Given the description of an element on the screen output the (x, y) to click on. 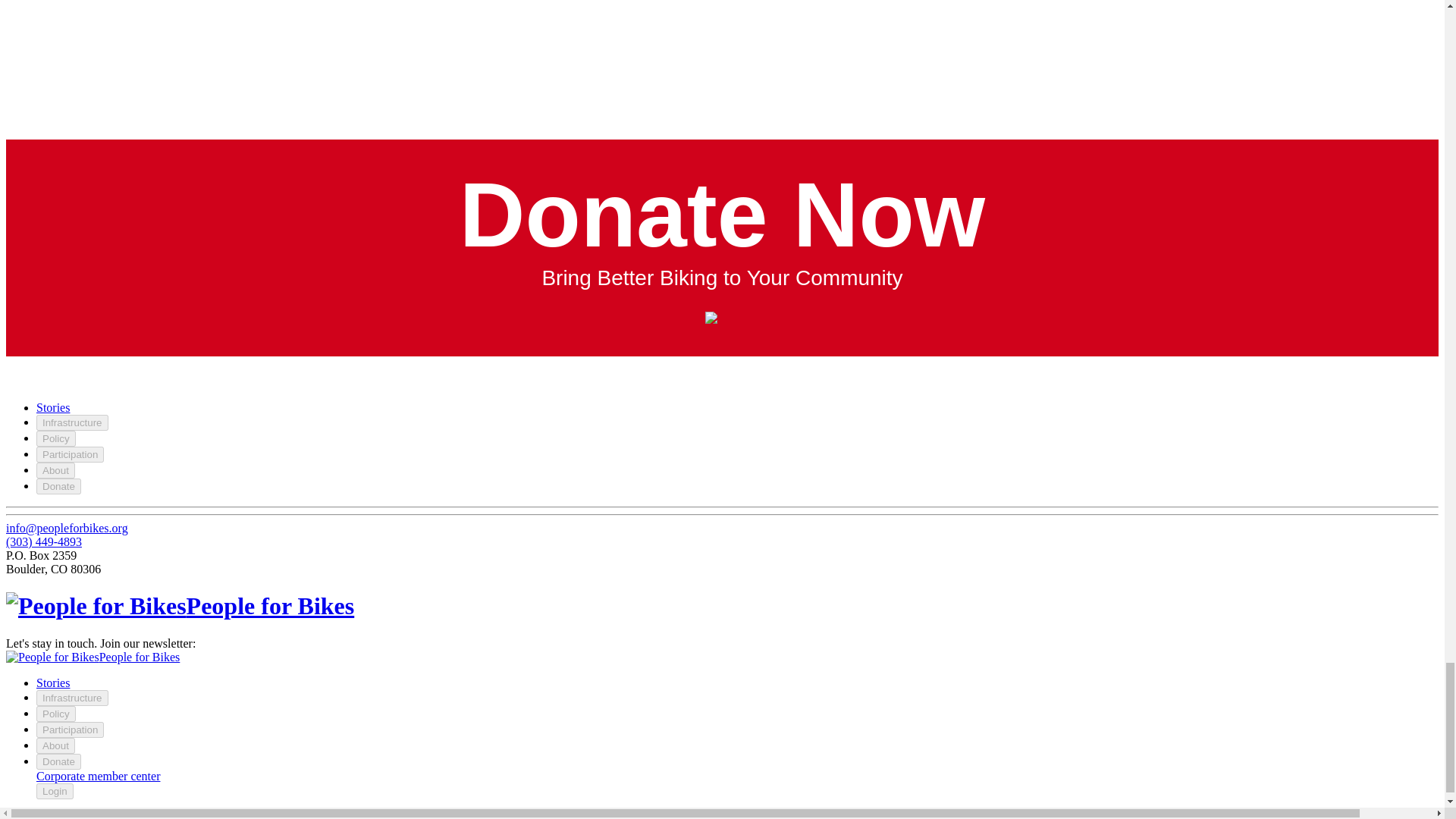
About (55, 470)
Stories (52, 407)
Infrastructure (71, 422)
People for Bikes (179, 605)
Infrastructure (71, 697)
Participation (69, 729)
Policy (55, 713)
Donate (58, 486)
About (55, 745)
